Given the description of an element on the screen output the (x, y) to click on. 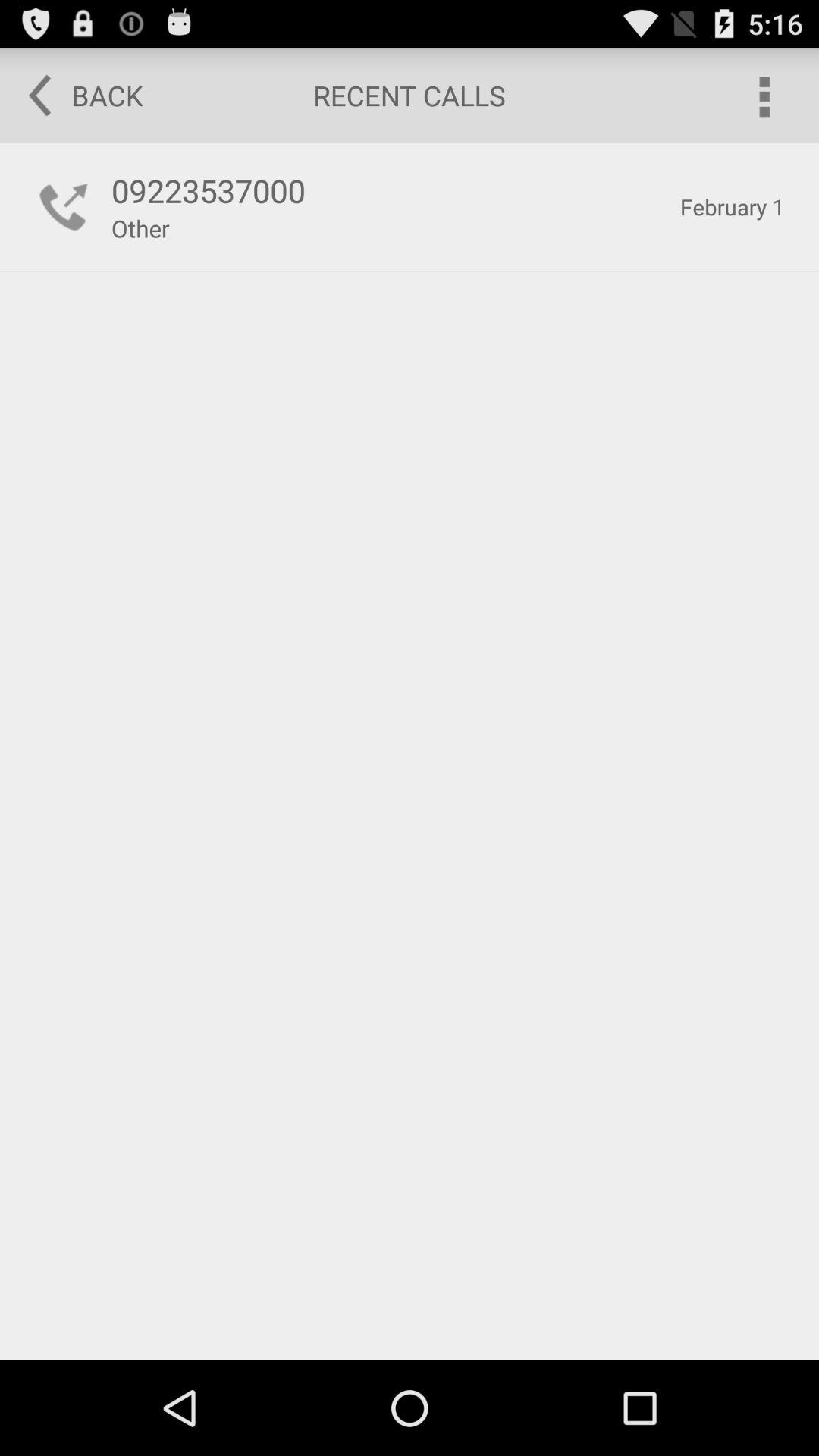
scroll to back item (75, 95)
